Given the description of an element on the screen output the (x, y) to click on. 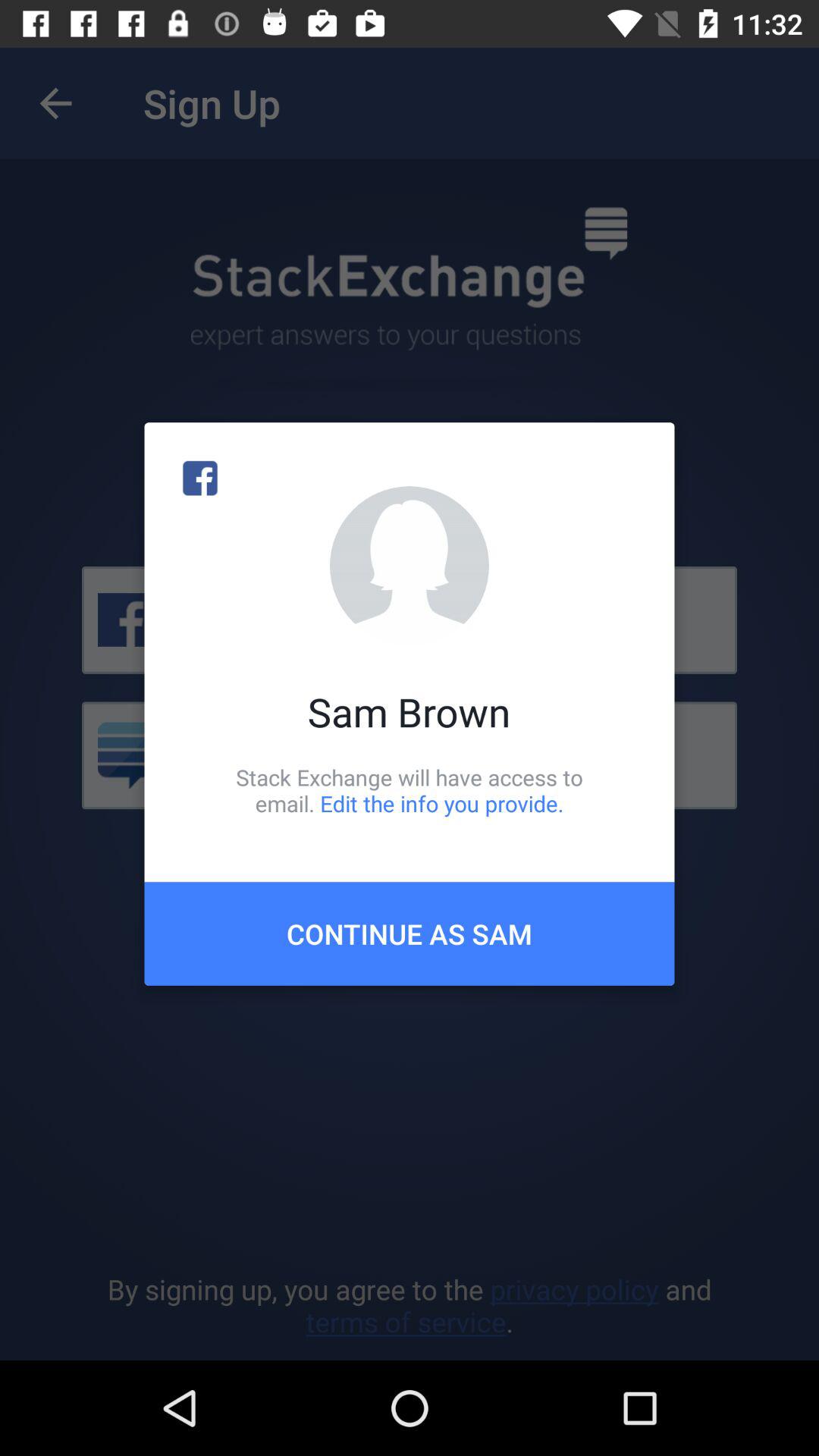
launch the icon below sam brown item (409, 790)
